Given the description of an element on the screen output the (x, y) to click on. 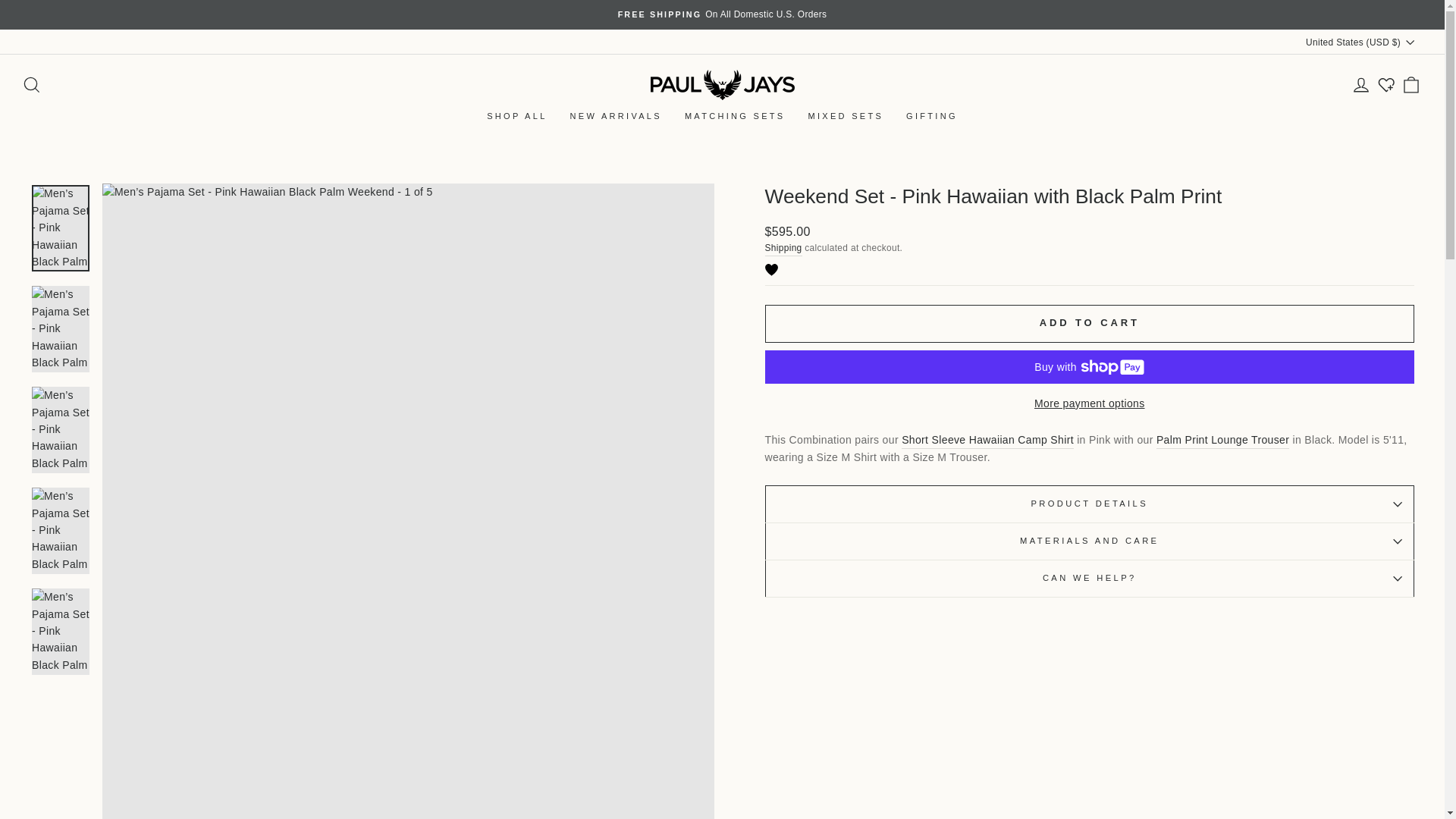
Linen Lounge Trouser - Palm Print (1222, 439)
Short Sleeve Pajama Camp Shirt - Hawaiian Floral (987, 439)
